Given the description of an element on the screen output the (x, y) to click on. 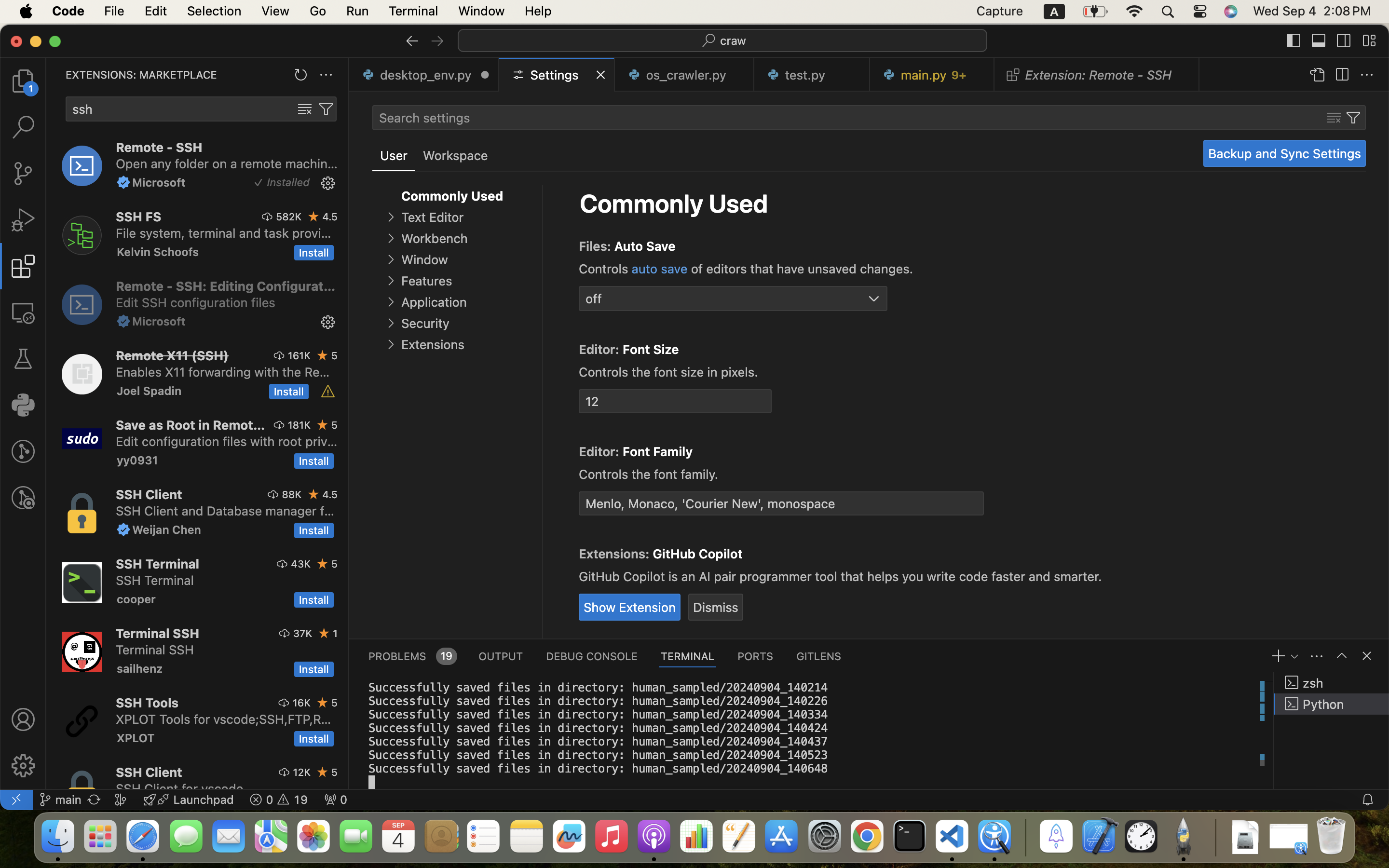
Terminal SSH Element type: AXStaticText (157, 632)
 Element type: AXCheckBox (1344, 40)
File system, terminal and task provider using SSH Element type: AXStaticText (223, 232)
0 GITLENS Element type: AXRadioButton (819, 655)
1 TERMINAL Element type: AXRadioButton (687, 655)
